Given the description of an element on the screen output the (x, y) to click on. 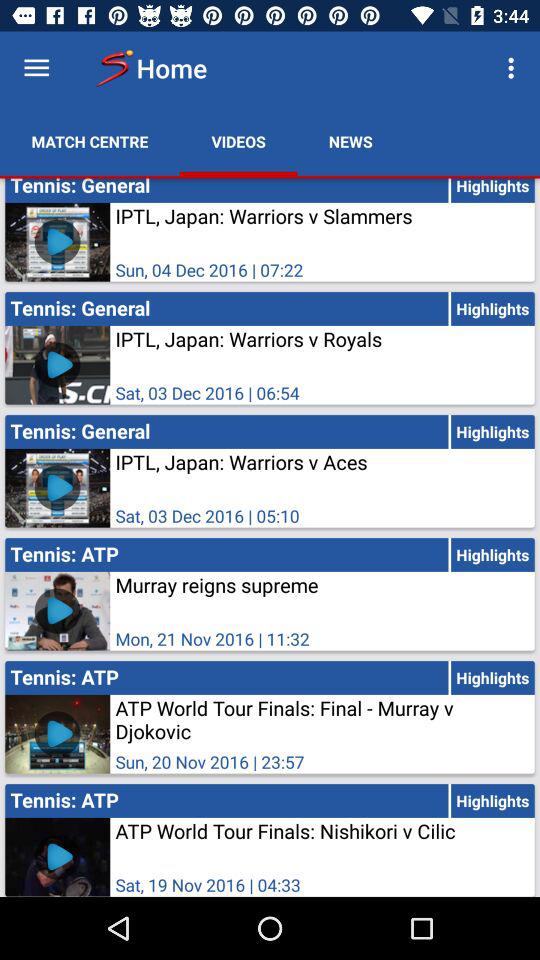
swipe to match centre icon (90, 141)
